Given the description of an element on the screen output the (x, y) to click on. 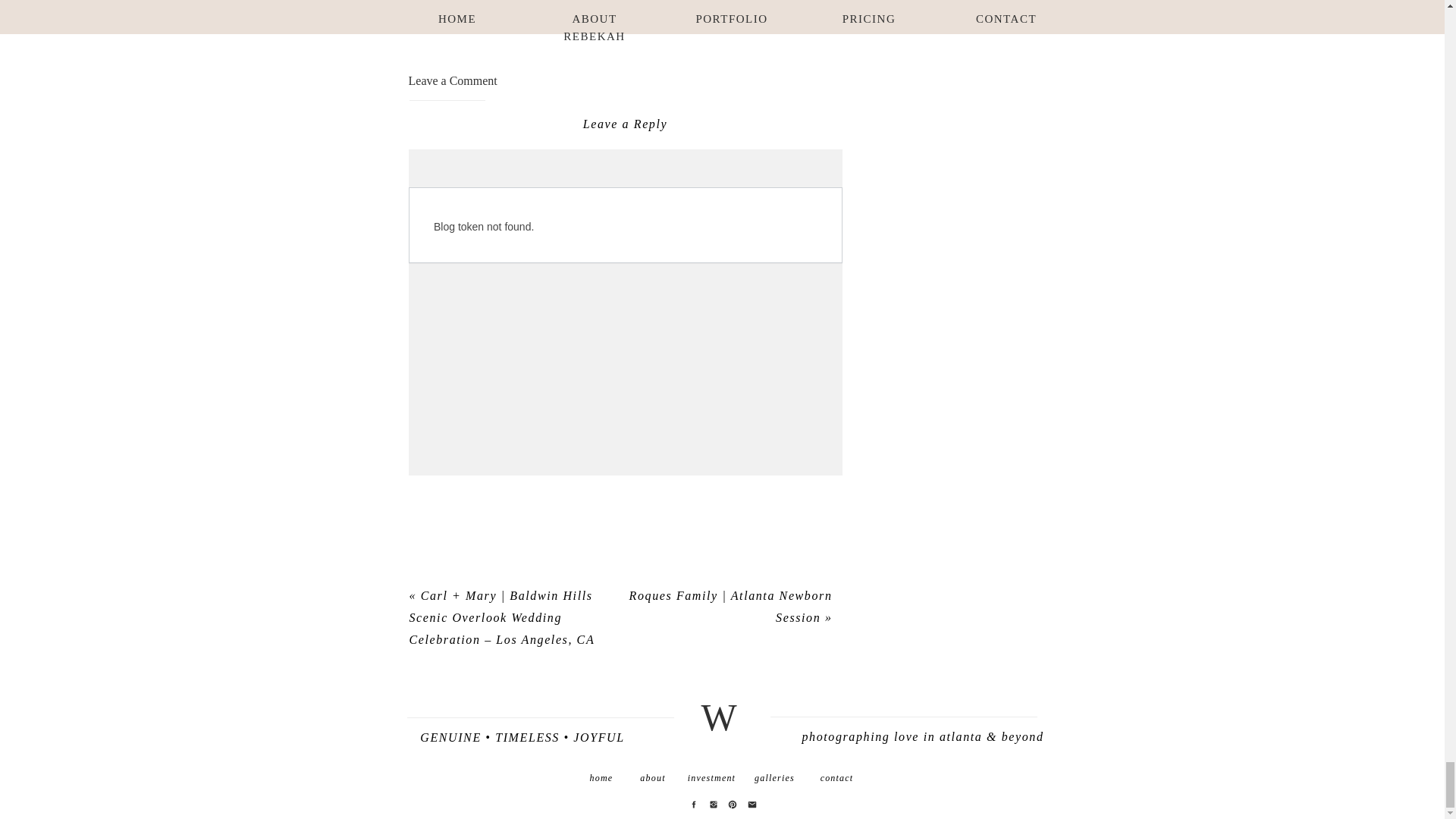
investment (710, 776)
home (601, 776)
contact (837, 776)
about (652, 776)
galleries (774, 776)
Leave a Comment (451, 80)
